Given the description of an element on the screen output the (x, y) to click on. 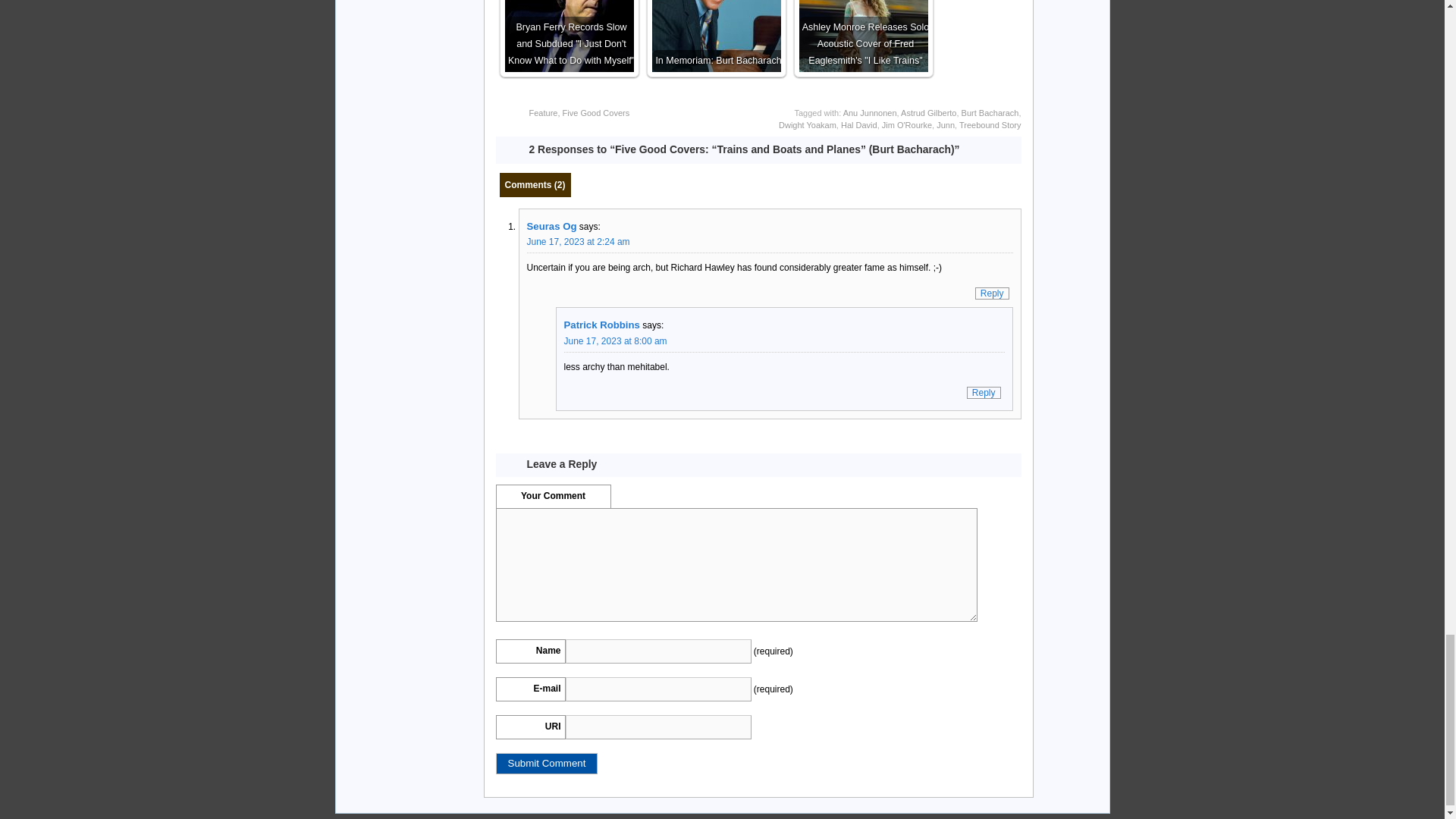
Reply (983, 392)
Treebound Story (990, 124)
Dwight Yoakam (806, 124)
June 17, 2023 at 8:00 am (615, 340)
Anu Junnonen (869, 112)
Hal David (859, 124)
Submit Comment (547, 762)
Feature (543, 112)
In Memoriam: Burt Bacharach (716, 36)
Jim O'Rourke (906, 124)
